Given the description of an element on the screen output the (x, y) to click on. 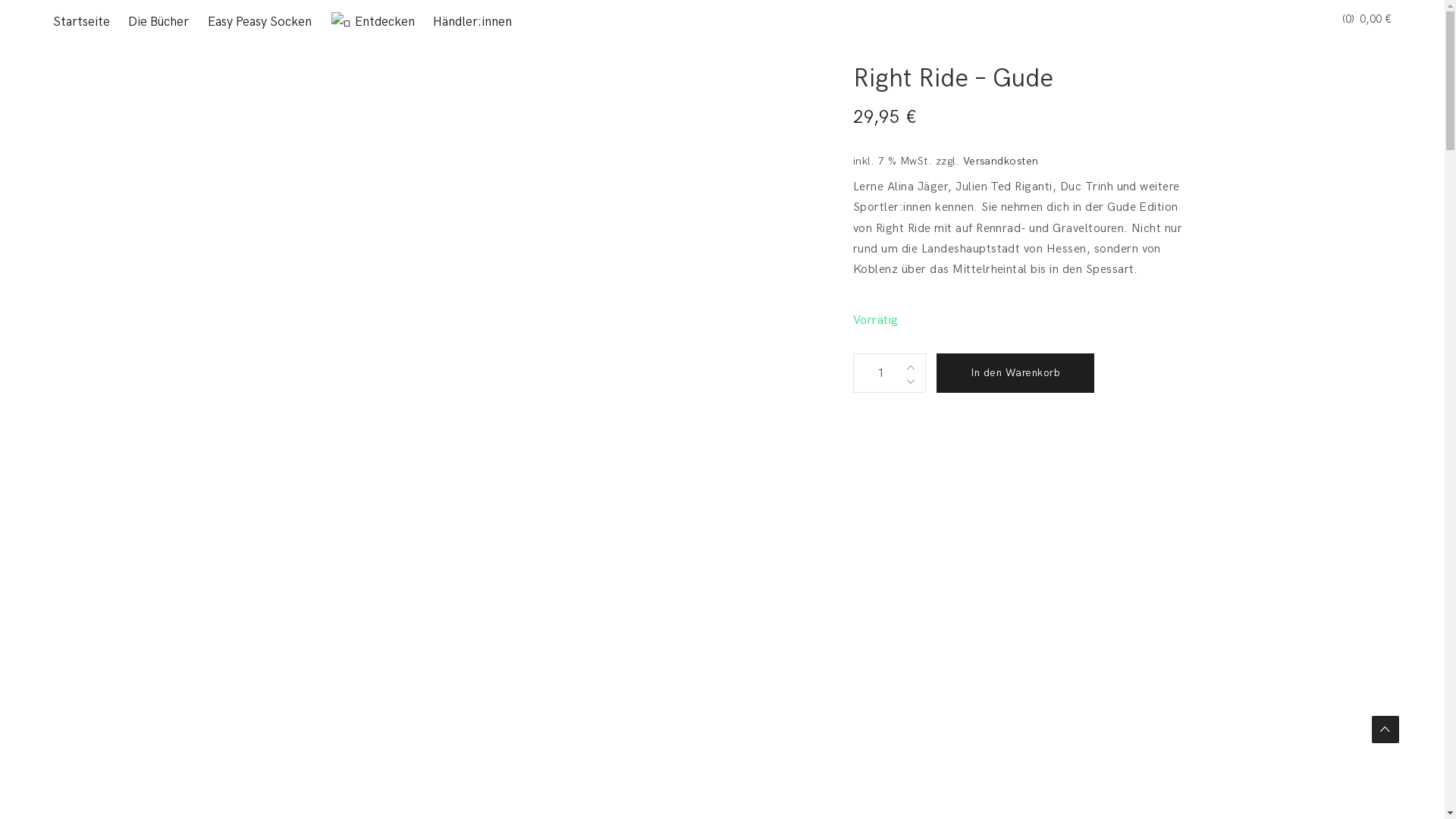
Versandkosten Element type: text (1000, 160)
In den Warenkorb Element type: text (1015, 372)
Easy Peasy Socken Element type: text (259, 21)
Entdecken Element type: text (371, 21)
Qty Element type: hover (876, 373)
Startseite Element type: text (85, 21)
